Given the description of an element on the screen output the (x, y) to click on. 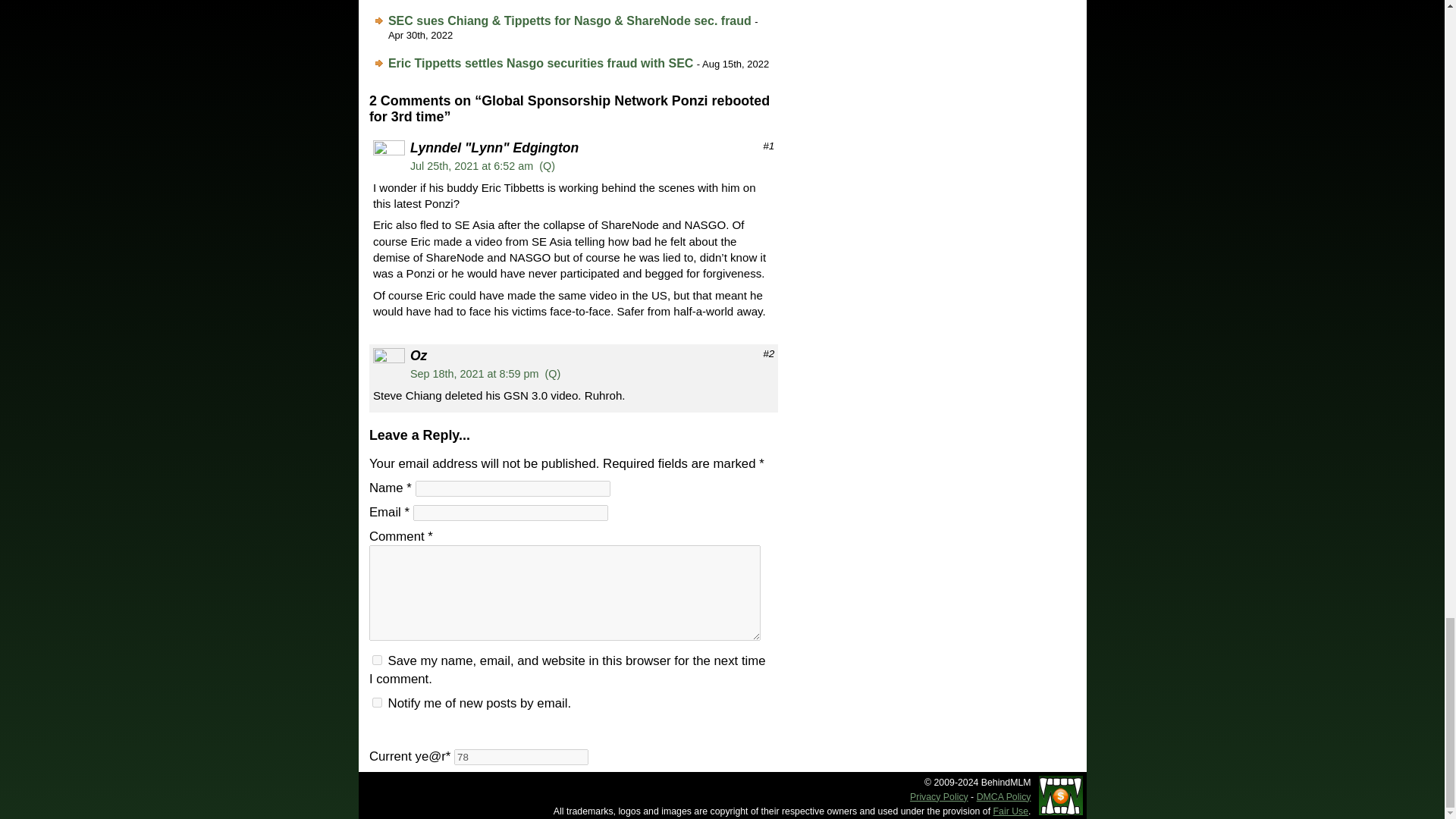
Sep 18th, 2021 at 8:59 pm (474, 373)
yes (376, 660)
Eric Tippetts settles Nasgo securities fraud with SEC (540, 62)
Jul 25th, 2021 at 6:52 am (471, 165)
Click here or select text to quote comment (552, 373)
78 (521, 756)
subscribe (376, 702)
Click here or select text to quote comment (546, 165)
